Given the description of an element on the screen output the (x, y) to click on. 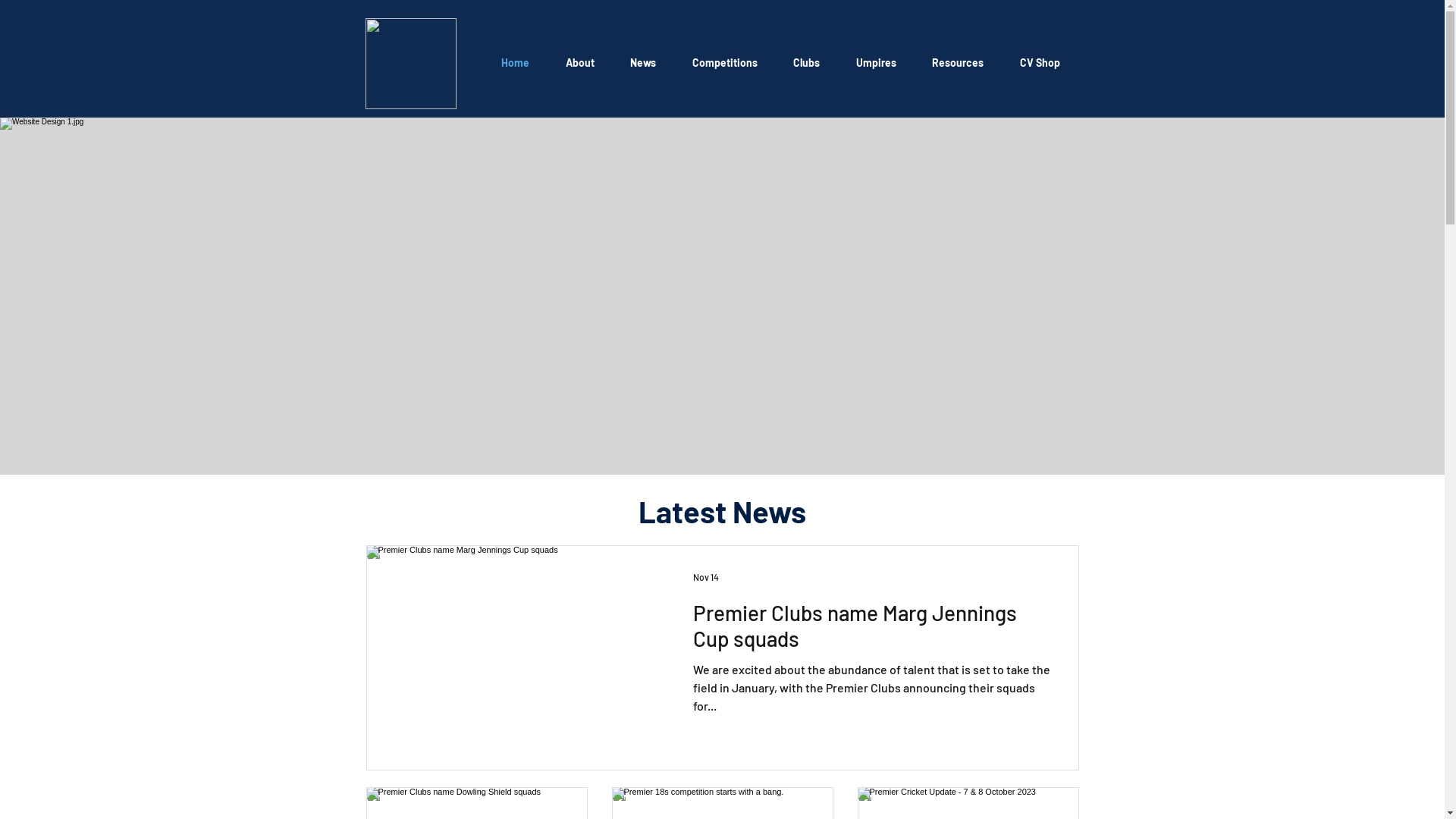
CV Shop Element type: text (1039, 62)
Resources Element type: text (958, 62)
Clubs Element type: text (806, 62)
Premier Clubs name Marg Jennings Cup squads Element type: text (872, 629)
About Element type: text (579, 62)
Home Element type: text (515, 62)
News Element type: text (643, 62)
VPC-logo-600.png Element type: hover (410, 63)
Umpires Element type: text (875, 62)
